Given the description of an element on the screen output the (x, y) to click on. 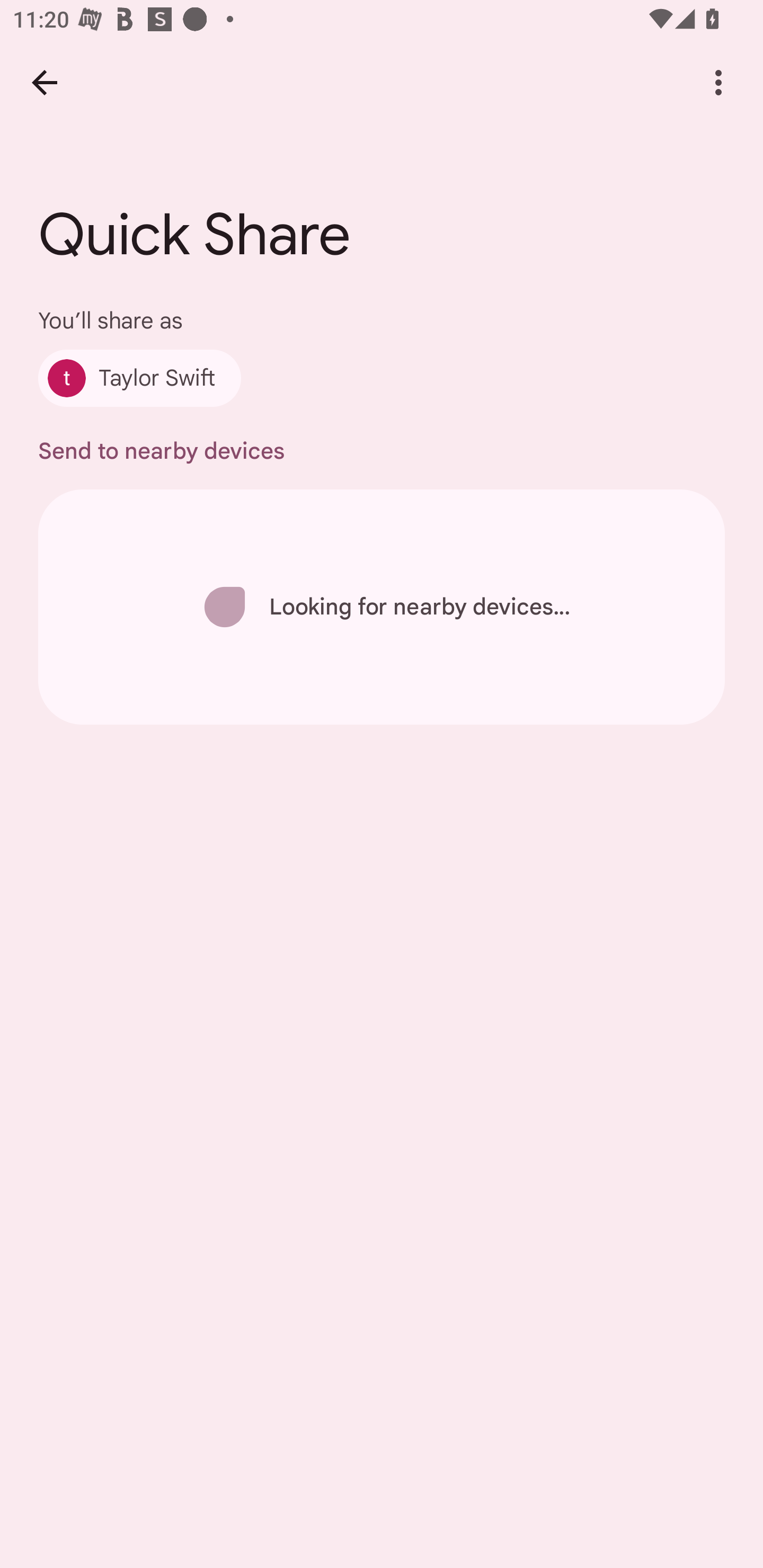
Back (44, 81)
More (718, 81)
Taylor Swift (139, 378)
